Given the description of an element on the screen output the (x, y) to click on. 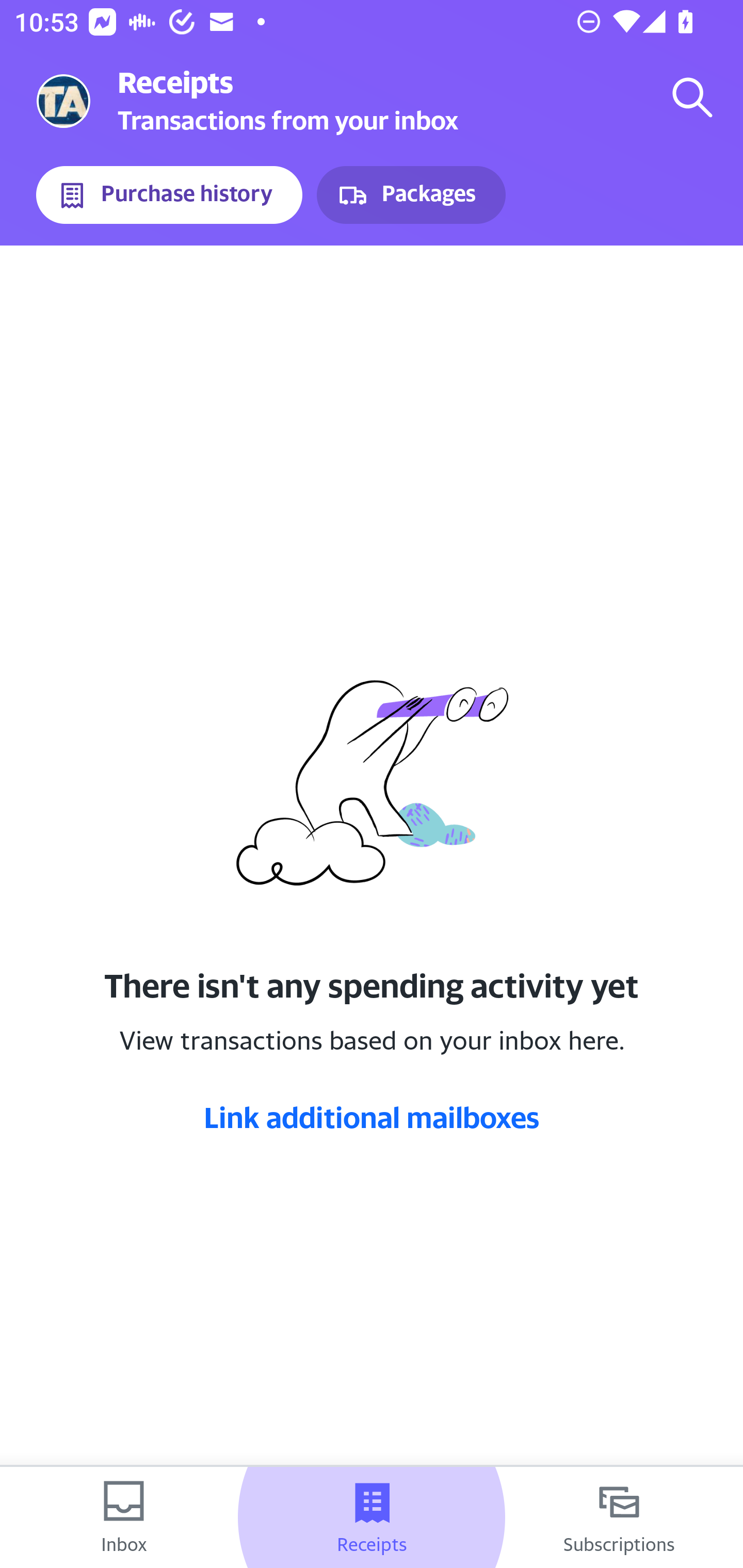
Search mail (692, 97)
Packages (410, 195)
Link additional mailboxes (371, 1117)
Inbox (123, 1517)
Receipts (371, 1517)
Subscriptions (619, 1517)
